Given the description of an element on the screen output the (x, y) to click on. 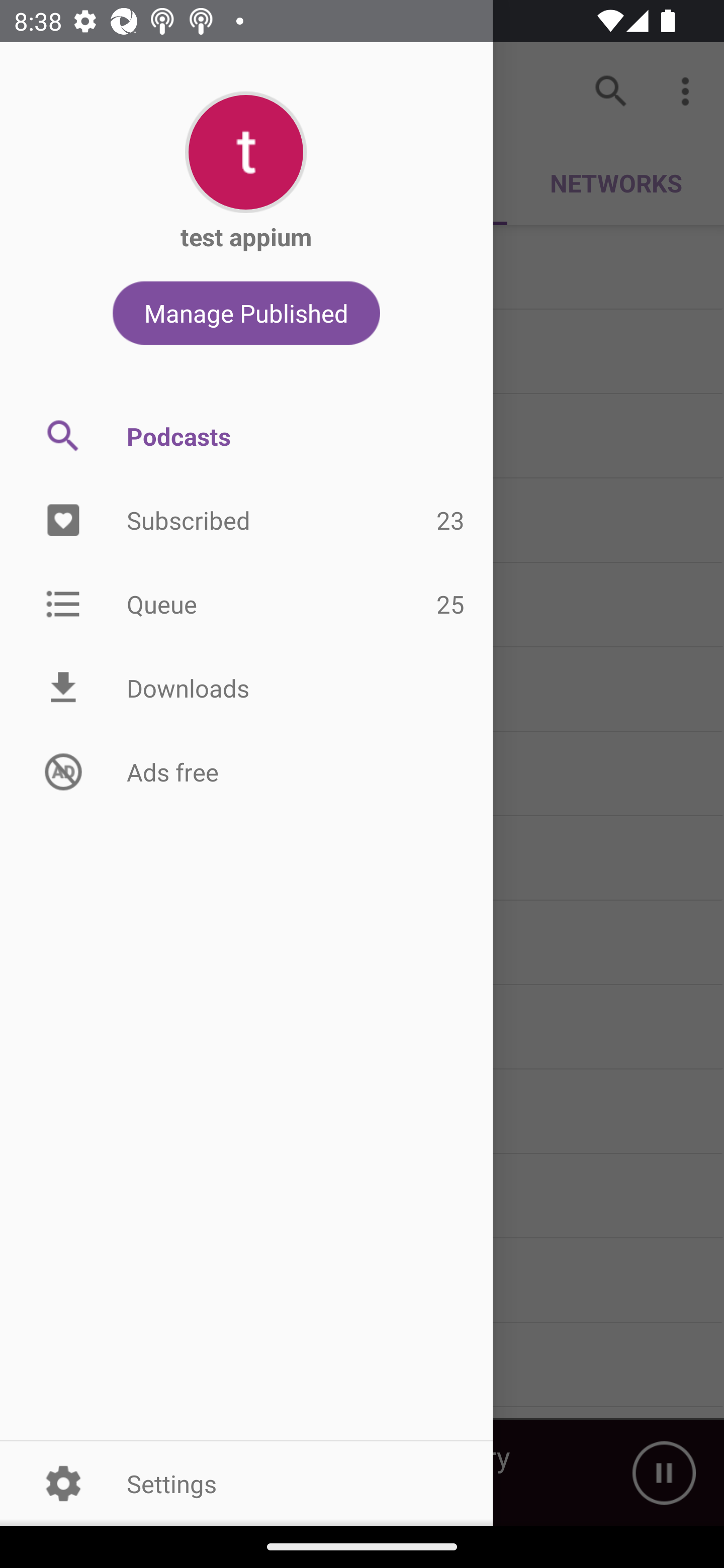
Manage Published (246, 312)
Picture Podcasts (246, 435)
Picture Subscribed 23 (246, 520)
Picture Queue 25 (246, 603)
Picture Downloads (246, 688)
Picture Ads free (246, 771)
Settings Picture Settings (246, 1482)
